Given the description of an element on the screen output the (x, y) to click on. 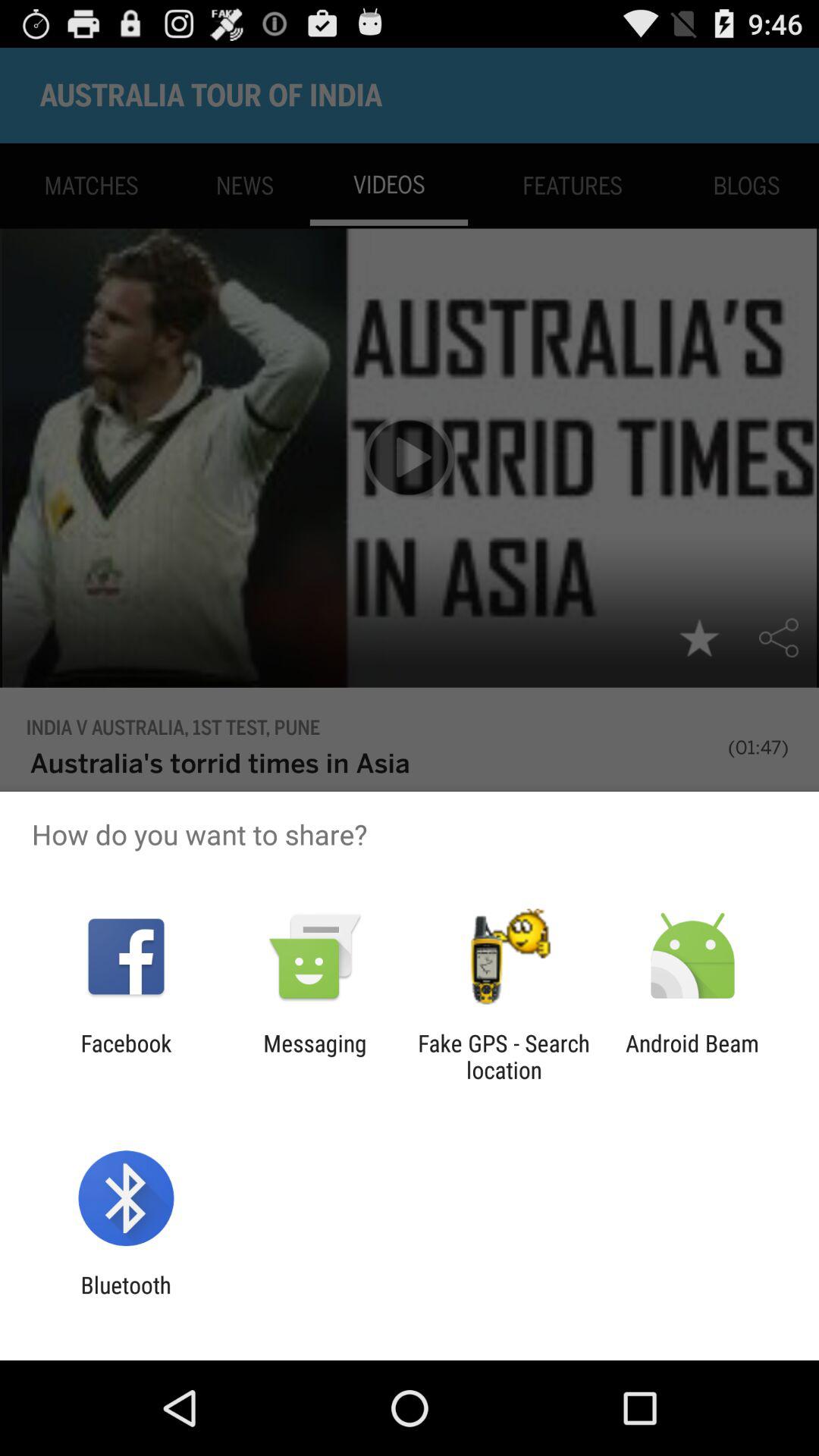
select android beam item (692, 1056)
